Given the description of an element on the screen output the (x, y) to click on. 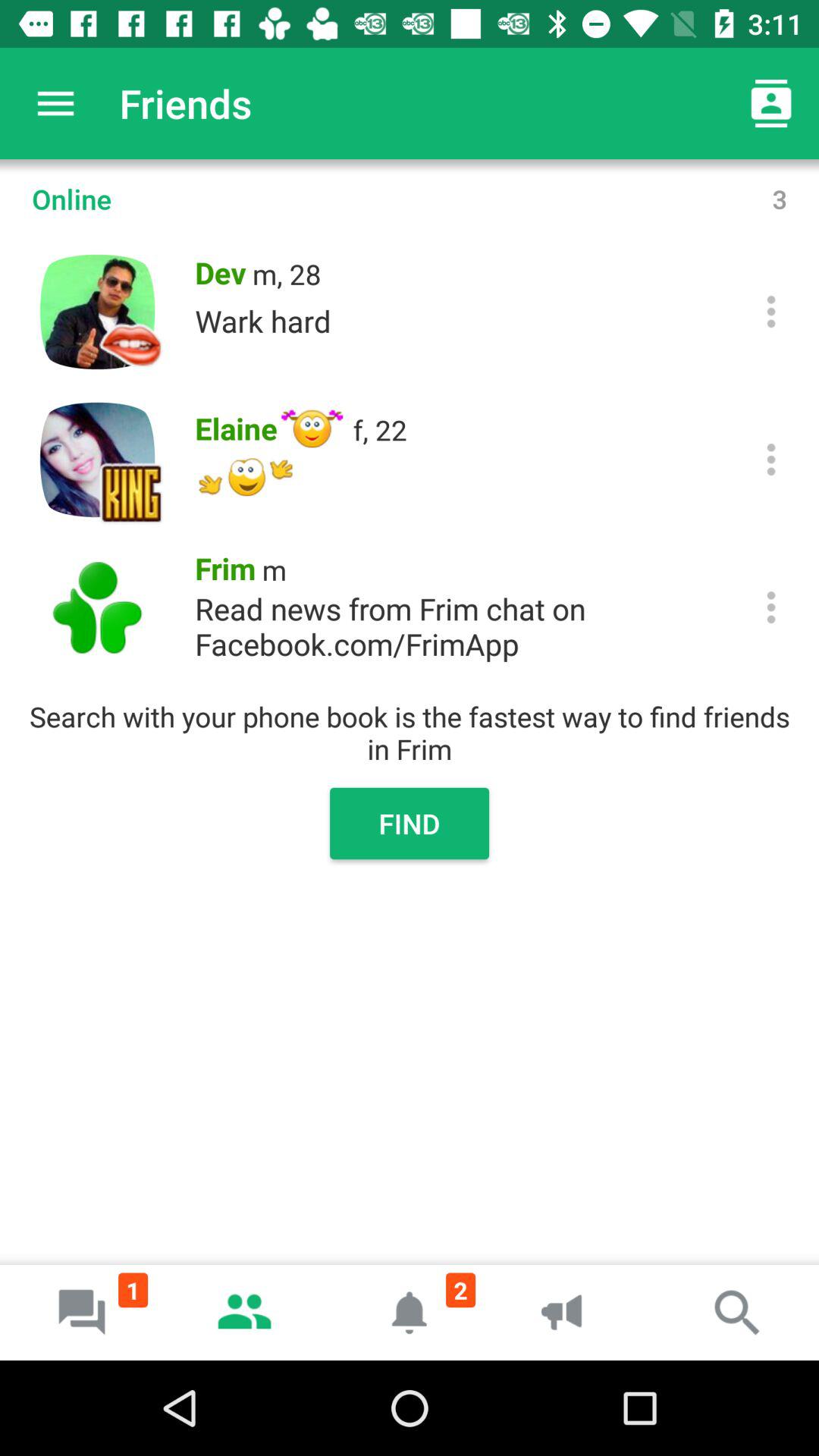
person settings (771, 459)
